Given the description of an element on the screen output the (x, y) to click on. 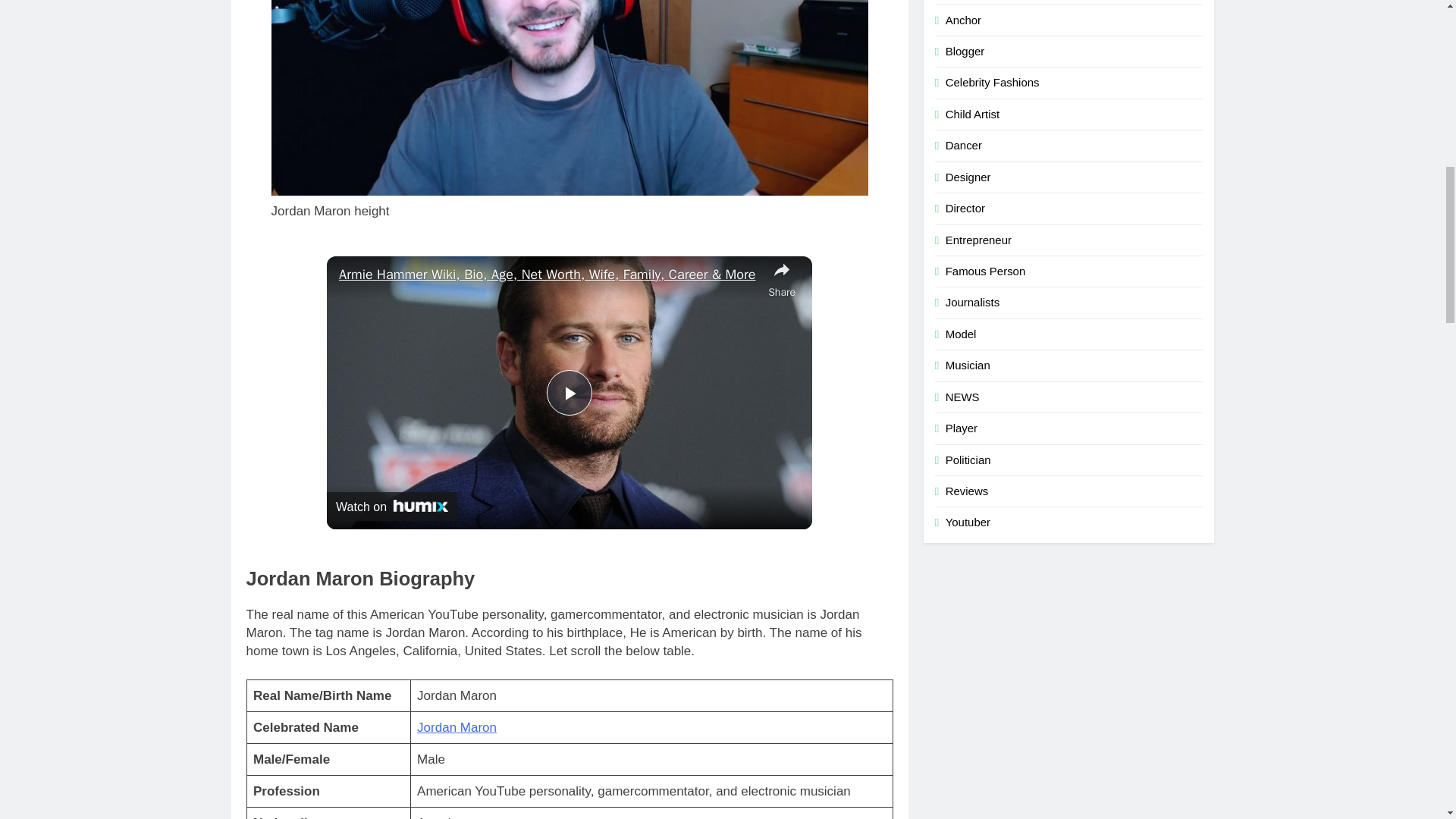
Play Video (569, 392)
Share (781, 279)
share (781, 279)
Play Video (569, 392)
Watch on (391, 506)
Jordan Maron (456, 727)
